Given the description of an element on the screen output the (x, y) to click on. 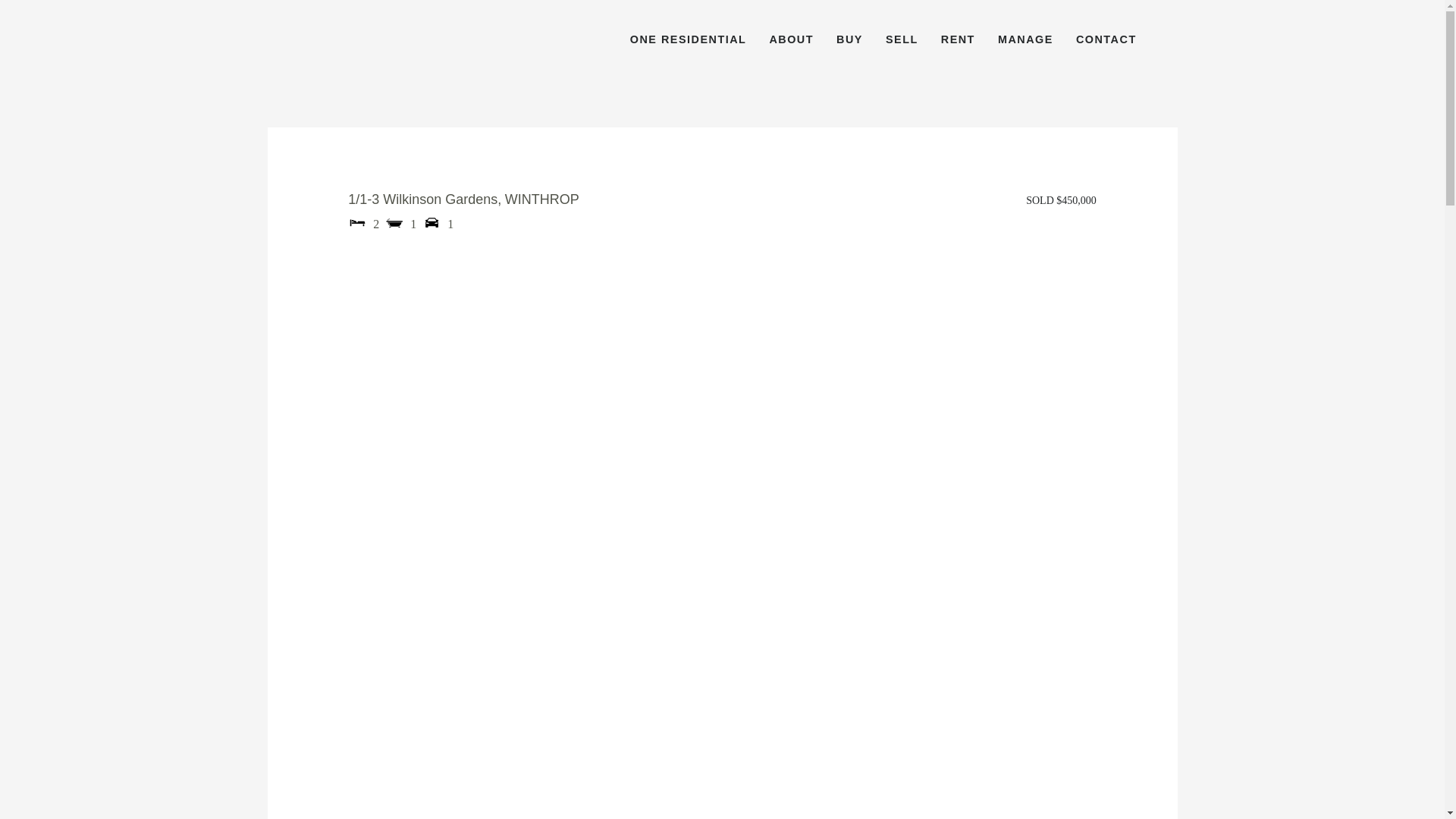
RENT (957, 39)
Bedrooms (356, 221)
ONE RESIDENTIAL (688, 39)
SELL (901, 39)
BUY (849, 39)
ABOUT (791, 39)
CONTACT (1106, 39)
Parking Spaces (431, 221)
Bathrooms (394, 221)
MANAGE (1025, 39)
